Given the description of an element on the screen output the (x, y) to click on. 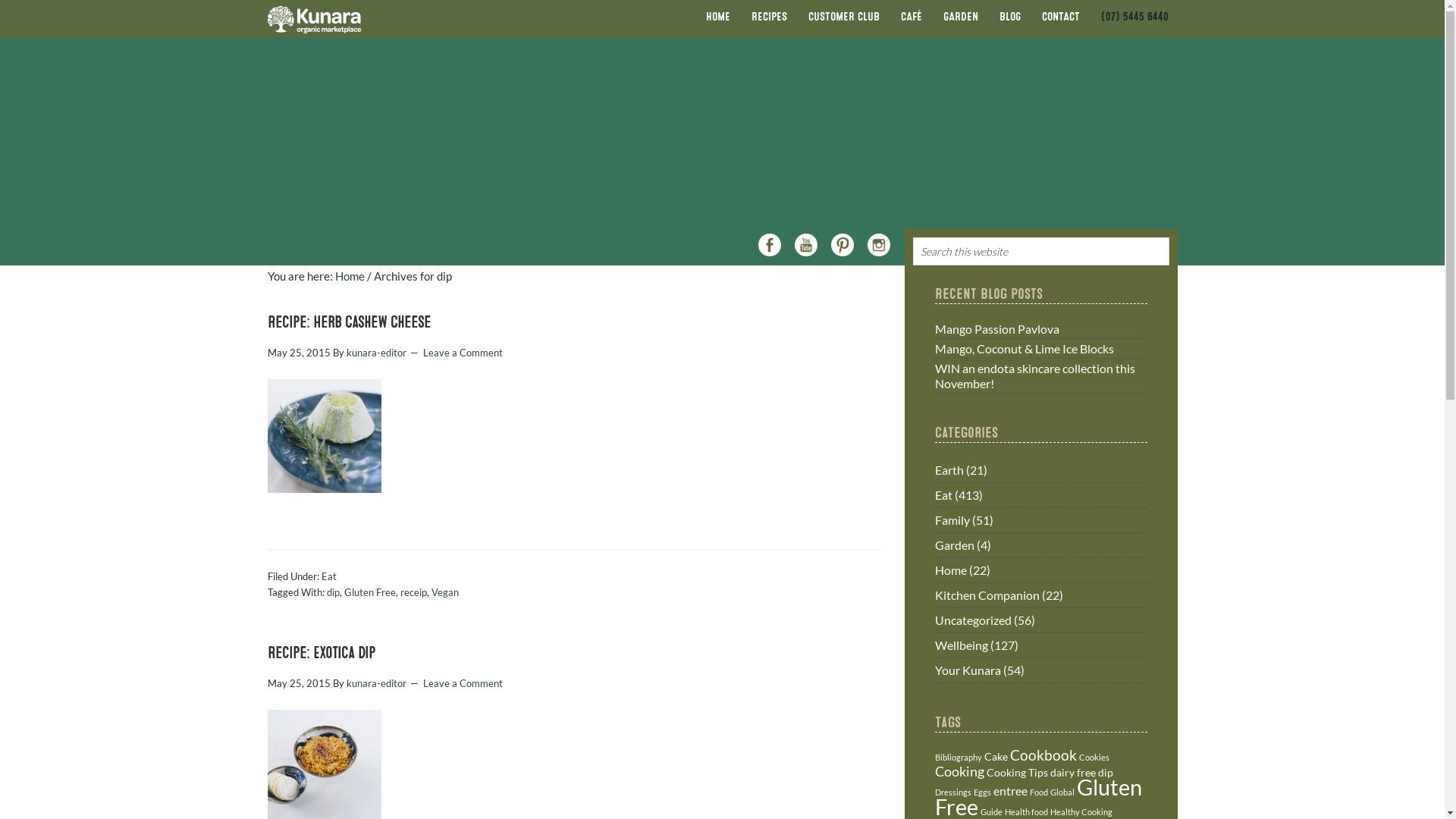
Leave a Comment Element type: text (462, 683)
Gluten Free Element type: text (369, 592)
CUSTOMER CLUB Element type: text (843, 16)
Earth Element type: text (948, 469)
Mango, Coconut & Lime Ice Blocks Element type: text (1023, 348)
Home Element type: text (950, 569)
Mango Passion Pavlova Element type: text (996, 328)
Cooking Element type: text (958, 770)
dip Element type: text (1105, 771)
kunara-editor Element type: text (375, 683)
Healthy Cooking Element type: text (1080, 811)
RECIPES Element type: text (768, 16)
kunara-editor Element type: text (375, 352)
Cooking Tips Element type: text (1016, 771)
Kitchen Companion Element type: text (986, 594)
Recipe: Herb Cashew Cheese Element type: text (347, 322)
Kunara Element type: text (315, 18)
entree Element type: text (1010, 790)
Cake Element type: text (995, 755)
Eat Element type: text (942, 494)
dairy free Element type: text (1072, 771)
BLOG Element type: text (1009, 16)
Global Element type: text (1061, 792)
Recipe: Exotica Dip Element type: text (320, 653)
Eat Element type: text (328, 576)
Wellbeing Element type: text (960, 644)
Your Kunara Element type: text (967, 669)
Search Element type: text (1174, 243)
GARDEN Element type: text (960, 16)
Cookbook Element type: text (1043, 754)
Garden Element type: text (953, 544)
Guide Element type: text (990, 811)
Home Element type: text (349, 275)
Vegan Element type: text (444, 592)
WIN an endota skincare collection this November! Element type: text (1034, 374)
Leave a Comment Element type: text (462, 352)
Cookies Element type: text (1093, 757)
Health food Element type: text (1025, 811)
CONTACT Element type: text (1060, 16)
HOME Element type: text (717, 16)
dip Element type: text (332, 592)
Food Element type: text (1038, 792)
Uncategorized Element type: text (972, 619)
receip Element type: text (413, 592)
Dressings Element type: text (952, 792)
Bibliography Element type: text (957, 757)
(07) 5445 6440 Element type: text (1134, 16)
Family Element type: text (951, 519)
Eggs Element type: text (982, 792)
